Given the description of an element on the screen output the (x, y) to click on. 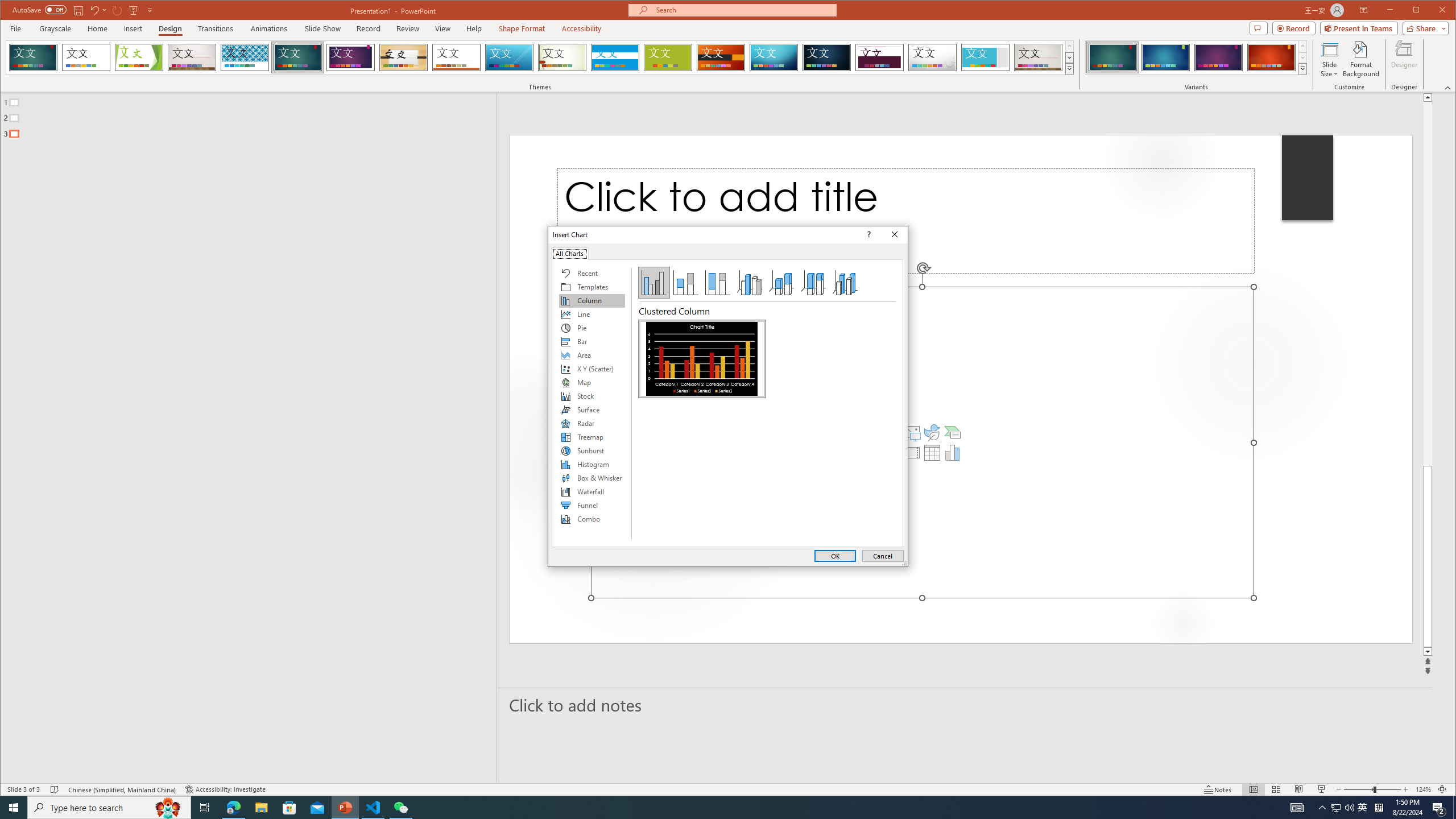
Ion Variant 1 (1112, 57)
Waterfall (591, 491)
Class: NetUIGalleryContainer (701, 429)
Area (591, 354)
Slice (509, 57)
Bar (591, 341)
3-D 100% Stacked Column (813, 282)
Ion Variant 4 (1270, 57)
